Given the description of an element on the screen output the (x, y) to click on. 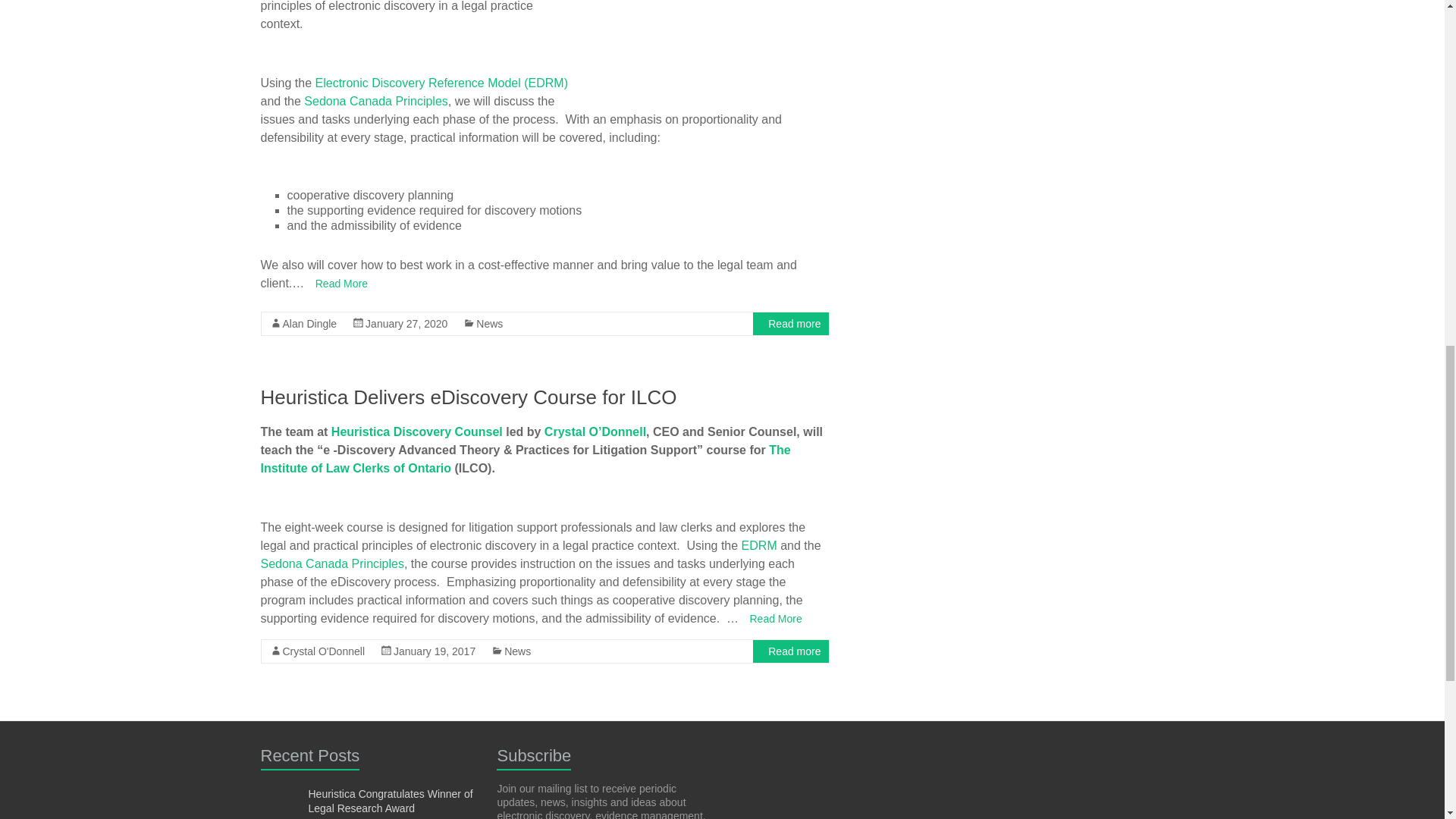
Heuristica Delivers eDiscovery Course for ILCO (468, 396)
3:36 pm (405, 323)
3:25 pm (434, 651)
